Given the description of an element on the screen output the (x, y) to click on. 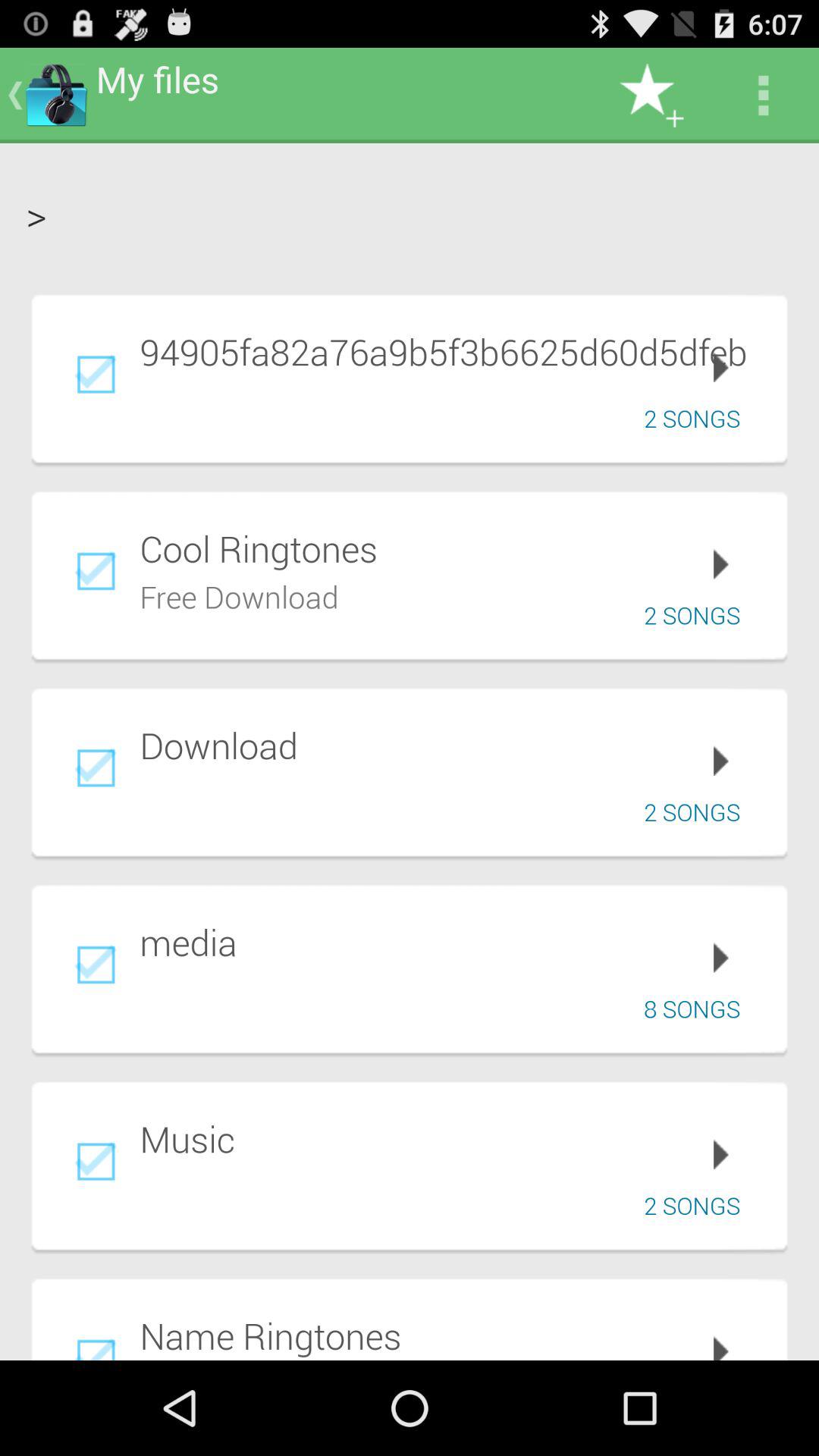
flip to music (452, 1138)
